Given the description of an element on the screen output the (x, y) to click on. 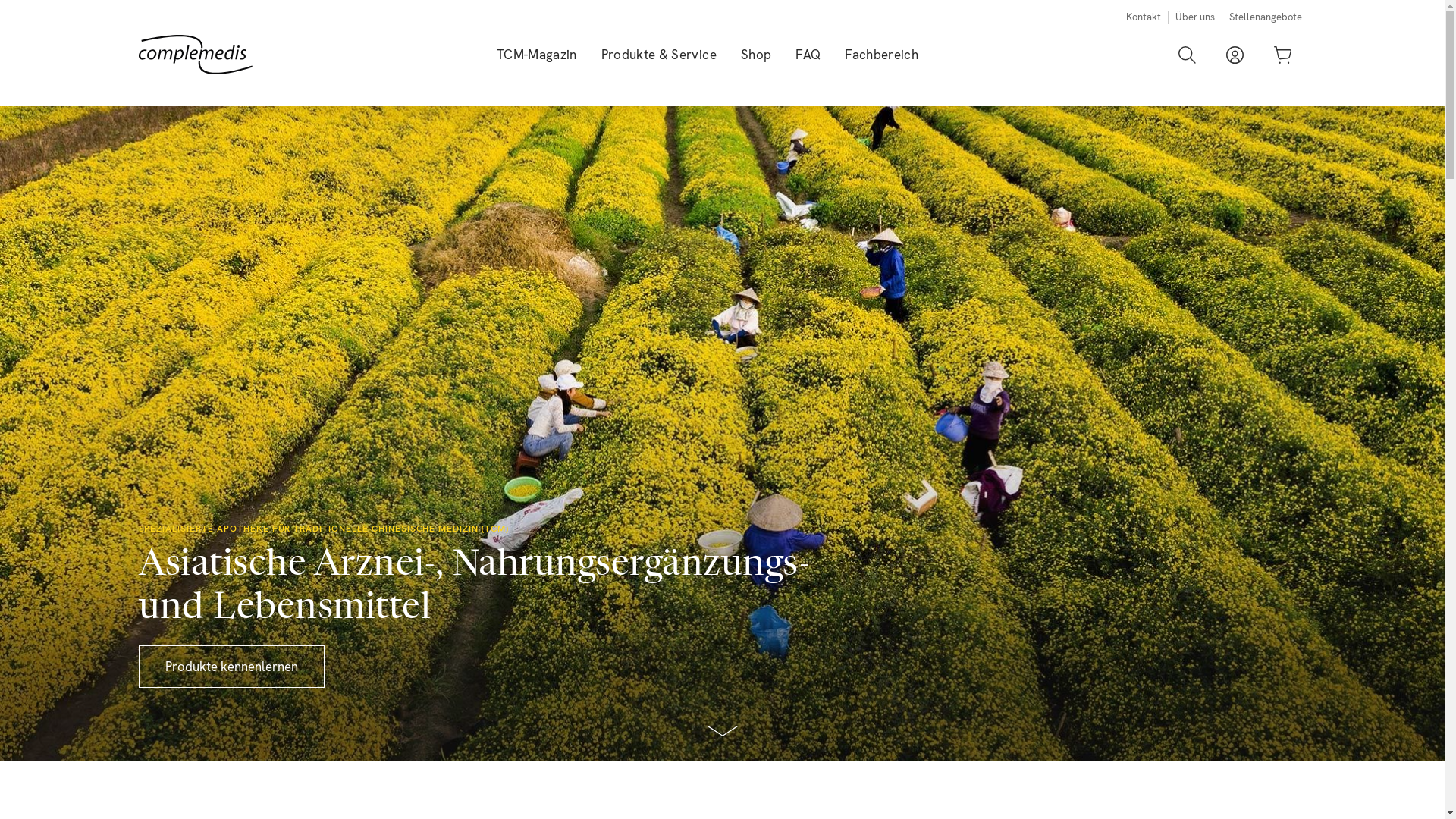
Kontakt Element type: text (1142, 16)
FAQ Element type: text (807, 54)
Produkte & Service Element type: text (658, 54)
Shop Element type: text (755, 54)
Fachbereich Element type: text (881, 54)
Produkte kennenlernen Element type: text (230, 666)
TCM-Magazin Element type: text (536, 54)
Stellenangebote Element type: text (1264, 16)
